Given the description of an element on the screen output the (x, y) to click on. 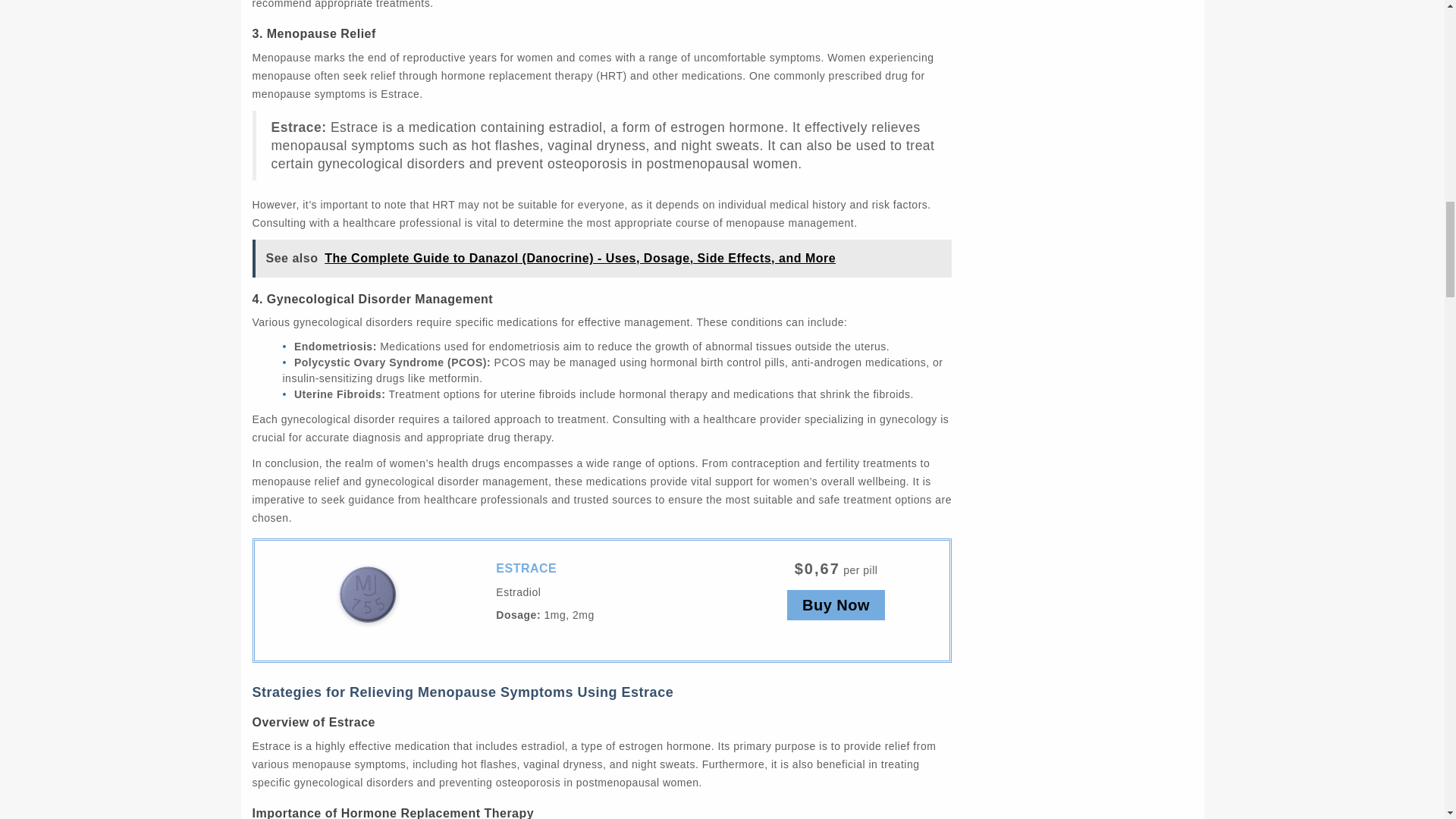
Buy Now (836, 604)
